Given the description of an element on the screen output the (x, y) to click on. 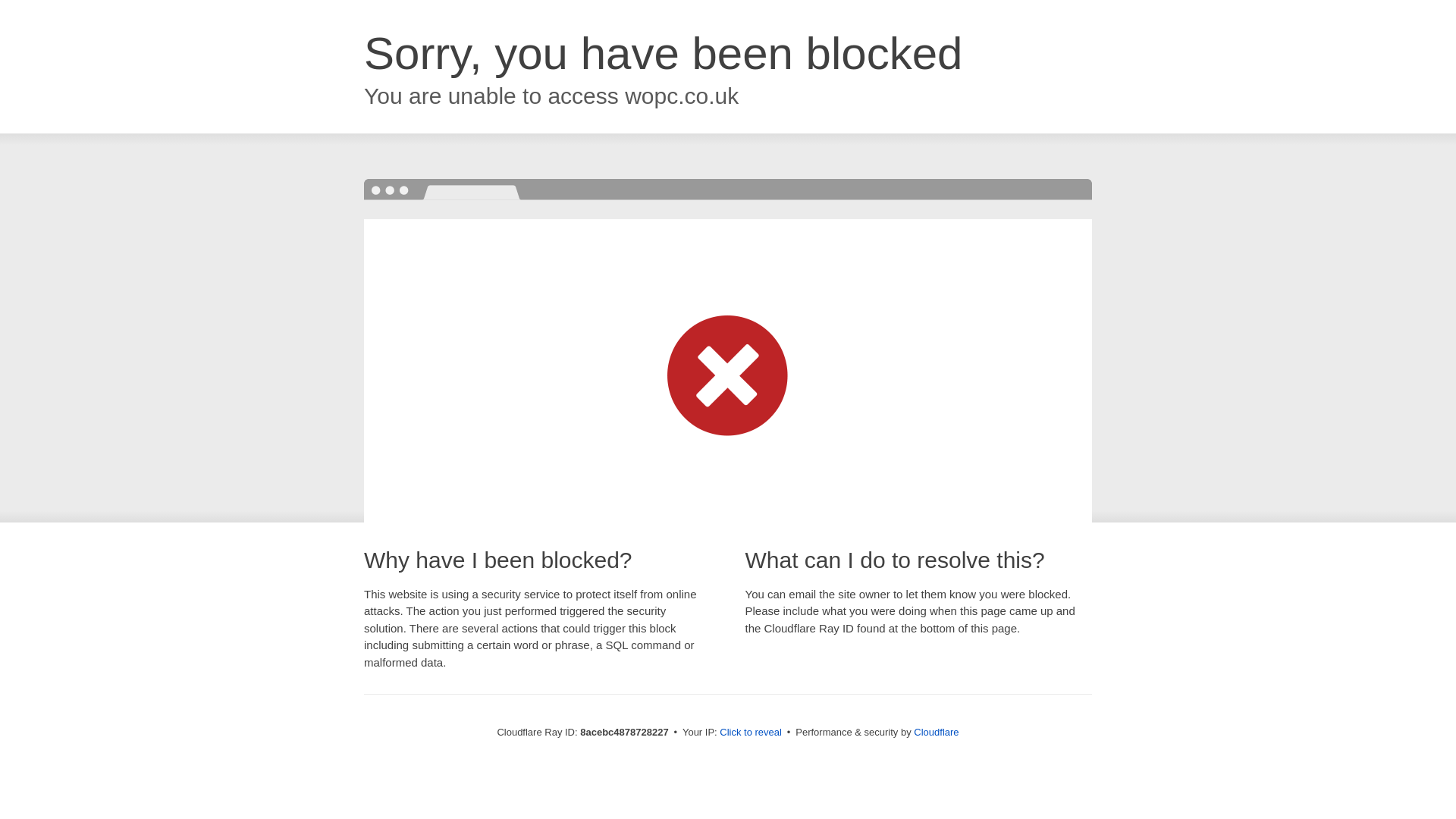
Cloudflare (936, 731)
Click to reveal (750, 732)
